Given the description of an element on the screen output the (x, y) to click on. 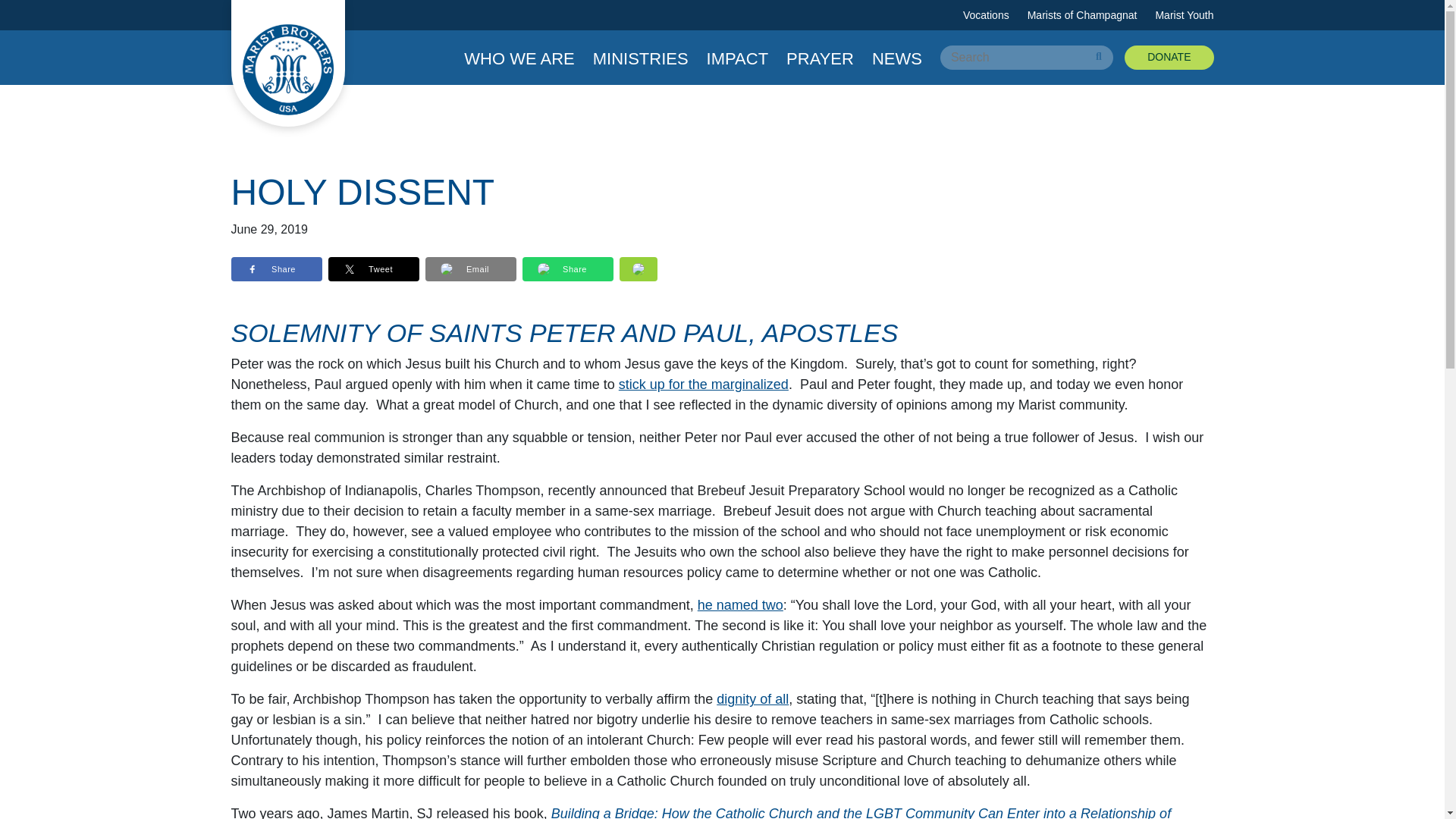
Marists of Champagnat (1082, 15)
PRAYER (819, 58)
Marist Youth (1183, 15)
NEWS (896, 58)
dignity of all (752, 698)
Vocations (985, 15)
WHO WE ARE (518, 58)
he named two (740, 604)
DONATE (1168, 57)
